Given the description of an element on the screen output the (x, y) to click on. 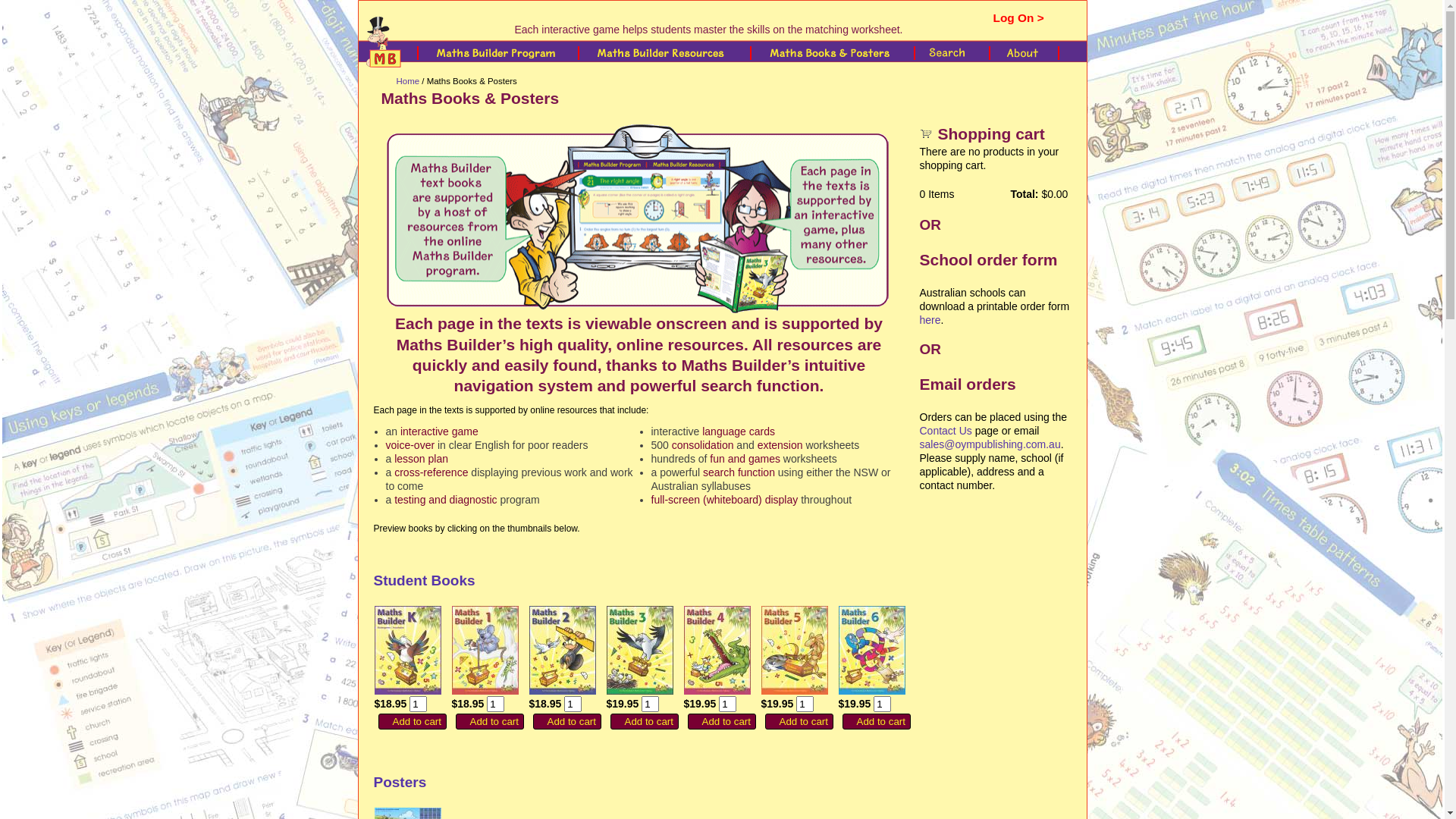
Add to cart Element type: text (875, 721)
Maths Builder Program Element type: text (498, 52)
Contact Us Element type: text (945, 430)
here Element type: text (929, 319)
Add to cart Element type: text (721, 721)
View your shopping cart. Element type: hover (928, 132)
sales@oympublishing.com.au Element type: text (989, 444)
Search Element type: text (950, 52)
Maths Builder Resources Element type: text (664, 52)
Add to cart Element type: text (643, 721)
Add to cart Element type: text (566, 721)
Add to cart Element type: text (798, 721)
Add to cart Element type: text (411, 721)
Add to cart Element type: text (489, 721)
Posters Element type: text (399, 782)
Home Element type: text (407, 80)
Maths Books & Posters Element type: text (833, 52)
Student Books Element type: text (423, 580)
About Element type: text (1028, 52)
Log On > Element type: text (1018, 18)
